Given the description of an element on the screen output the (x, y) to click on. 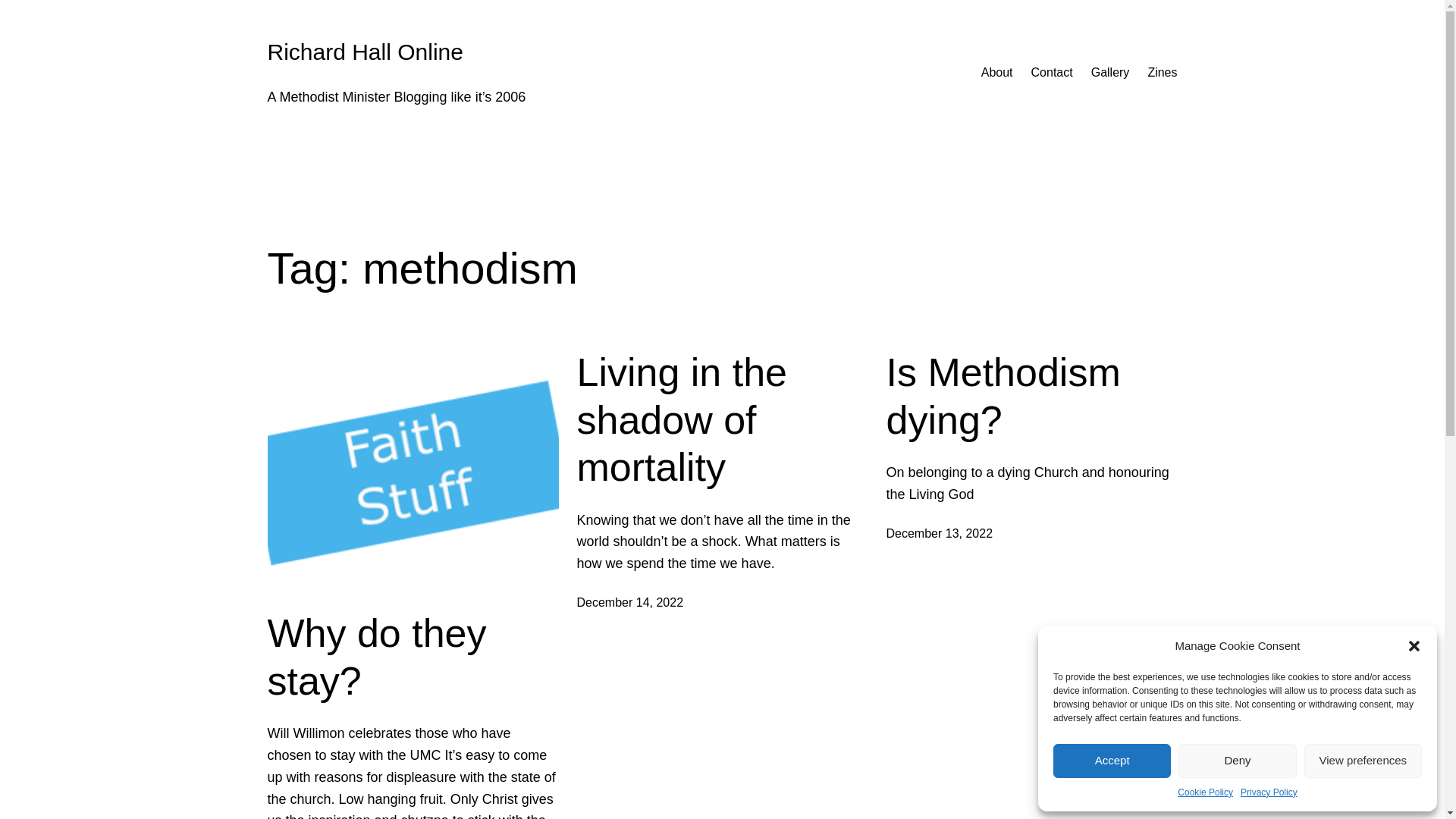
Accept (1111, 760)
Gallery (1109, 72)
Privacy Policy (1268, 792)
About (997, 72)
Cookie Policy (1205, 792)
Deny (1236, 760)
Living in the shadow of mortality (721, 419)
December 13, 2022 (938, 533)
Now (997, 72)
December 14, 2022 (629, 602)
View preferences (1363, 760)
Richard Hall Online (364, 51)
Is Methodism dying? (1030, 395)
Contact (1051, 72)
Why do they stay? (411, 656)
